Given the description of an element on the screen output the (x, y) to click on. 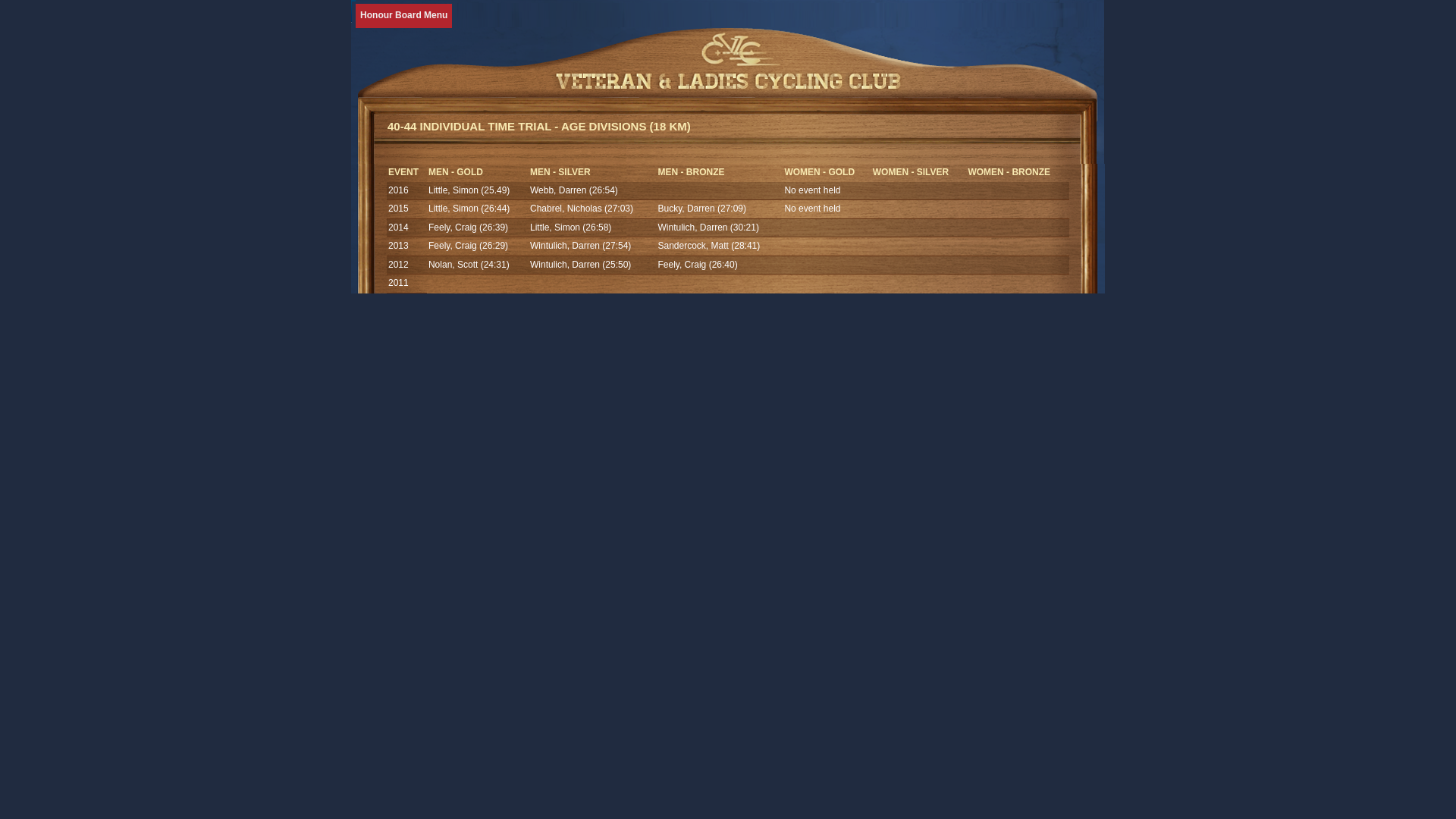
2014 Element type: text (398, 226)
2013 Element type: text (398, 245)
2012 Element type: text (398, 264)
2011 Element type: text (398, 282)
Skip to secondary content Element type: text (419, 15)
Skip to primary content Element type: text (413, 15)
2016 Element type: text (398, 190)
2015 Element type: text (398, 208)
Honour Board Menu Element type: text (403, 15)
